Given the description of an element on the screen output the (x, y) to click on. 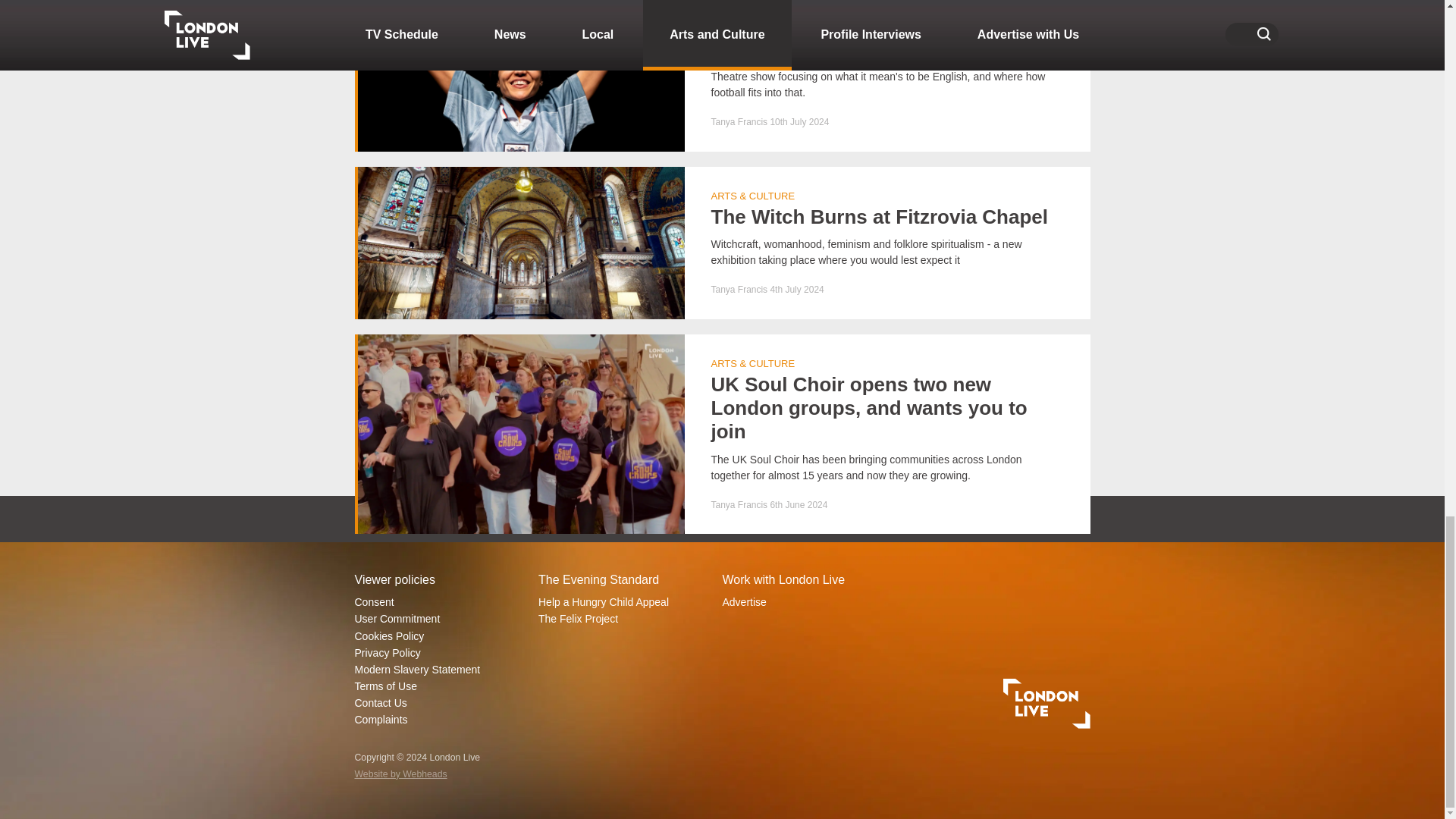
Modern Slavery Statement (439, 669)
Read more (722, 243)
Like us on Facebook (482, 519)
Privacy Policy (439, 652)
Complaints (439, 719)
Consent (439, 601)
Viewer policies (439, 580)
Cookies Policy (439, 636)
Read more (722, 75)
Follow us on Instagram (795, 519)
User Commitment (439, 618)
Contact Us (439, 702)
Watch us on YouTube (958, 519)
Terms of Use (439, 686)
